Given the description of an element on the screen output the (x, y) to click on. 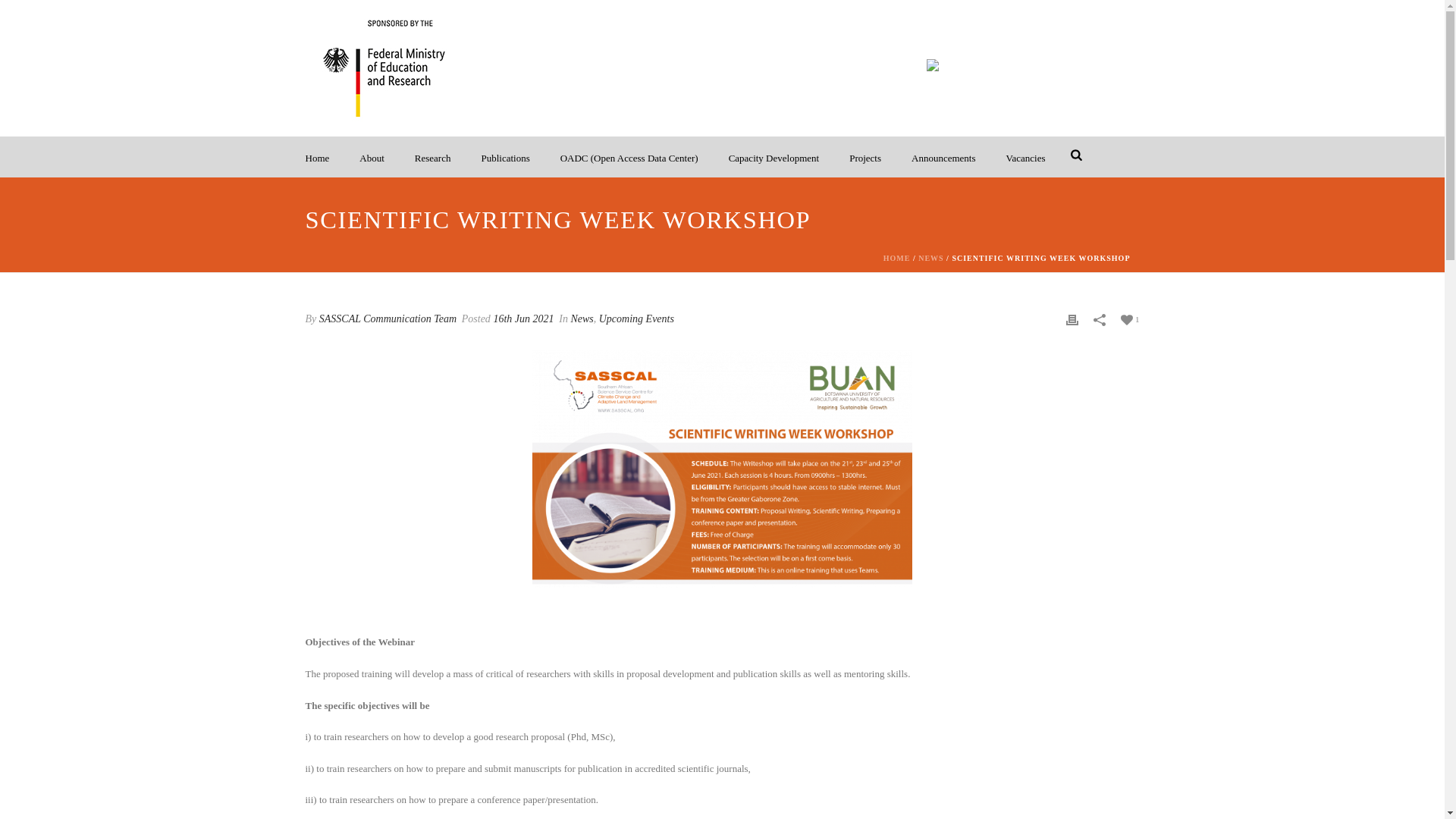
Home (316, 156)
Announcements (943, 156)
Home (316, 156)
Research (431, 156)
Publications (504, 156)
About (370, 156)
Research (431, 156)
Posts by SASSCAL Communication Team (387, 318)
Publications (504, 156)
Capacity Development (773, 156)
Capacity Development (773, 156)
About (370, 156)
Vacancies (1026, 156)
Projects (865, 156)
